Given the description of an element on the screen output the (x, y) to click on. 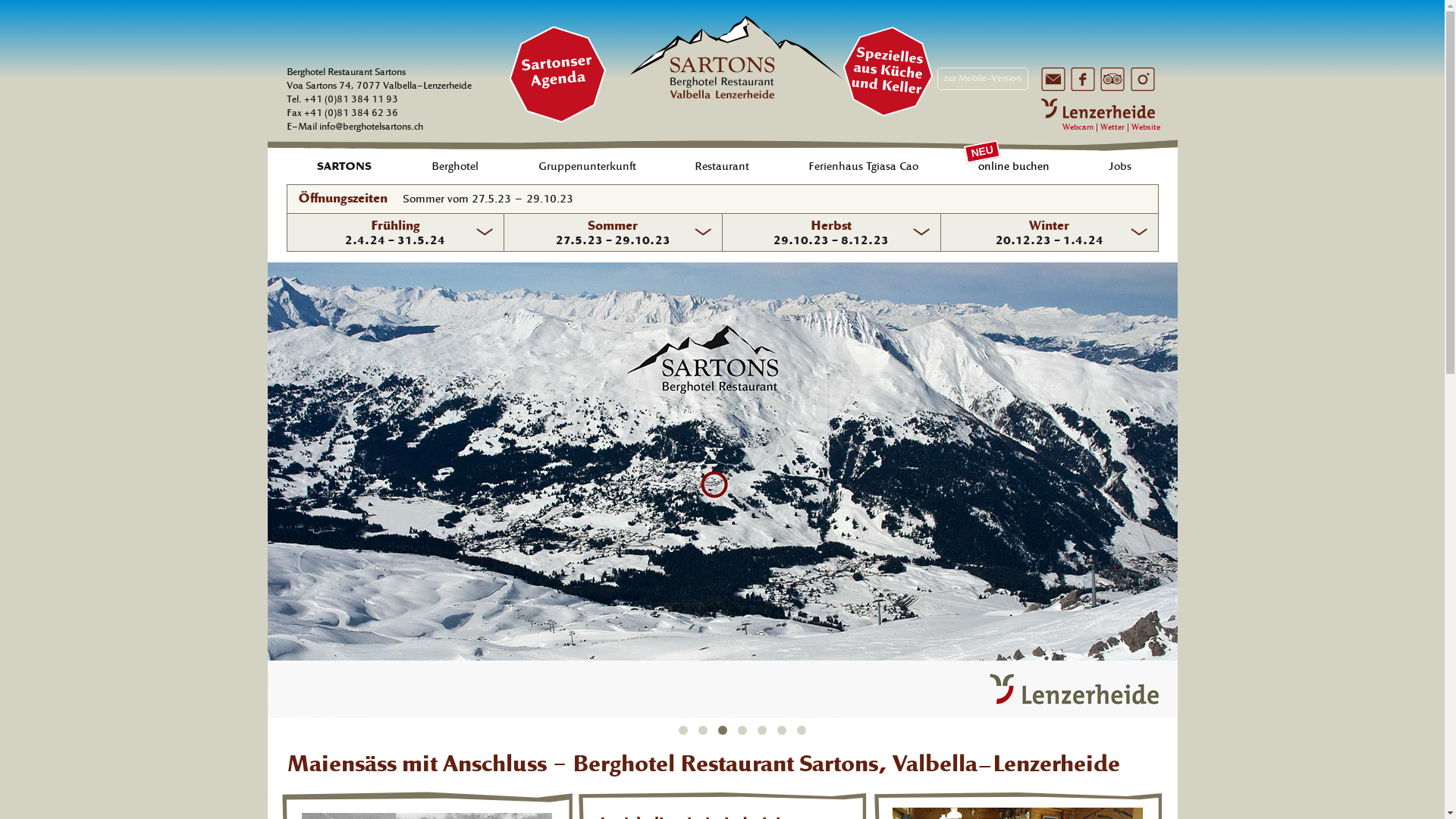
info@berghotelsartons.ch Element type: text (370, 126)
folgen Sie uns auf Instagram Element type: hover (1141, 79)
mailen Sie uns! Element type: hover (1052, 79)
bewerten Sie uns auf Trip Advisor Element type: hover (1111, 79)
Bergrestaurant Sartons, Valbella-Lenzerheide Element type: hover (721, 489)
Ferienhaus Tgiasa Cao Element type: text (863, 164)
Restaurant Element type: text (721, 164)
Webcam Element type: text (1076, 126)
folgen und liken Sie uns auf Facebook Element type: hover (1082, 79)
Sartonser Agenda vom Berghotel Restaurant Sartons Element type: hover (553, 70)
schauen Sie durch unsere Nachbars Webcam Element type: hover (1129, 126)
Jobs Element type: text (1120, 164)
SARTONS Element type: text (344, 164)
Willkommen in der Feriendestination Lenzerheide Element type: hover (1097, 108)
Website Element type: text (1145, 126)
Sartonser Agenda vom Berghotel Restaurant Sartons Element type: hover (882, 66)
Gruppenunterkunft Element type: text (587, 164)
Berghotel Element type: text (454, 164)
gehe zur Smartphone-Version Element type: hover (982, 78)
Wetter Element type: text (1111, 126)
zur Mobile-Version Element type: text (982, 78)
Startseite SARTONS Element type: hover (736, 60)
online buchen Element type: text (1014, 164)
